Given the description of an element on the screen output the (x, y) to click on. 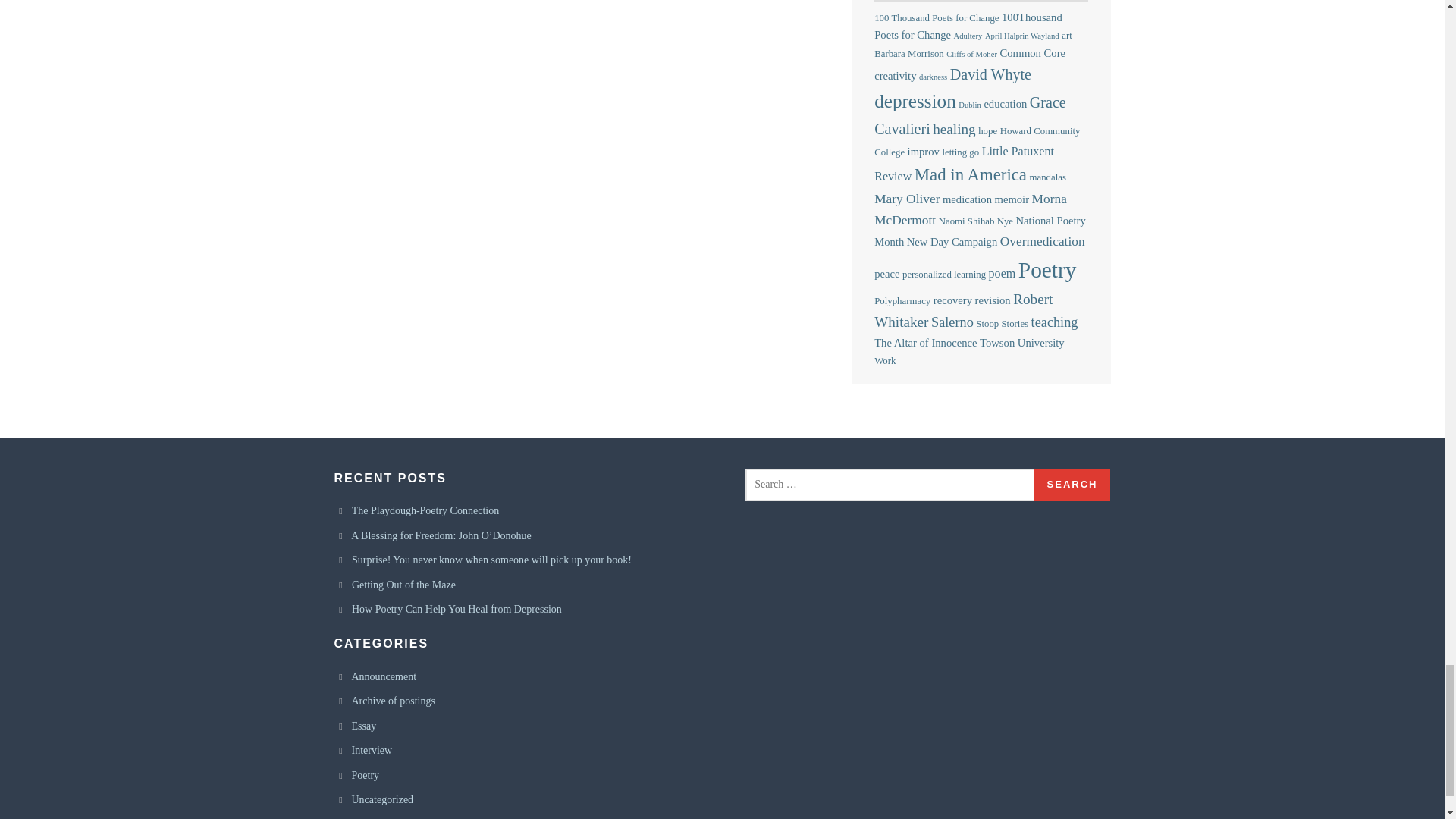
Search (1071, 484)
Search (1071, 484)
